Given the description of an element on the screen output the (x, y) to click on. 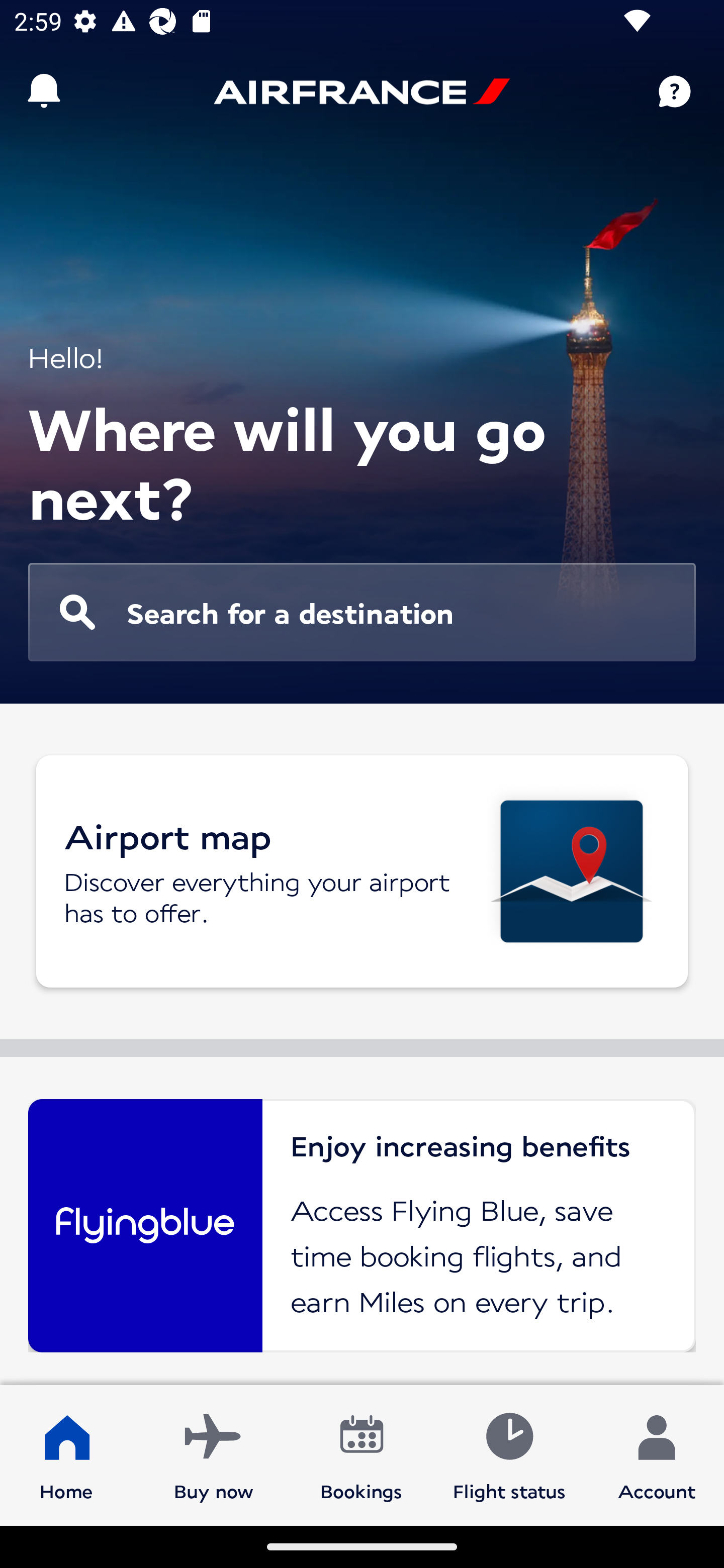
Search for a destination (361, 611)
Buy now (213, 1454)
Bookings (361, 1454)
Flight status (509, 1454)
Account (657, 1454)
